Given the description of an element on the screen output the (x, y) to click on. 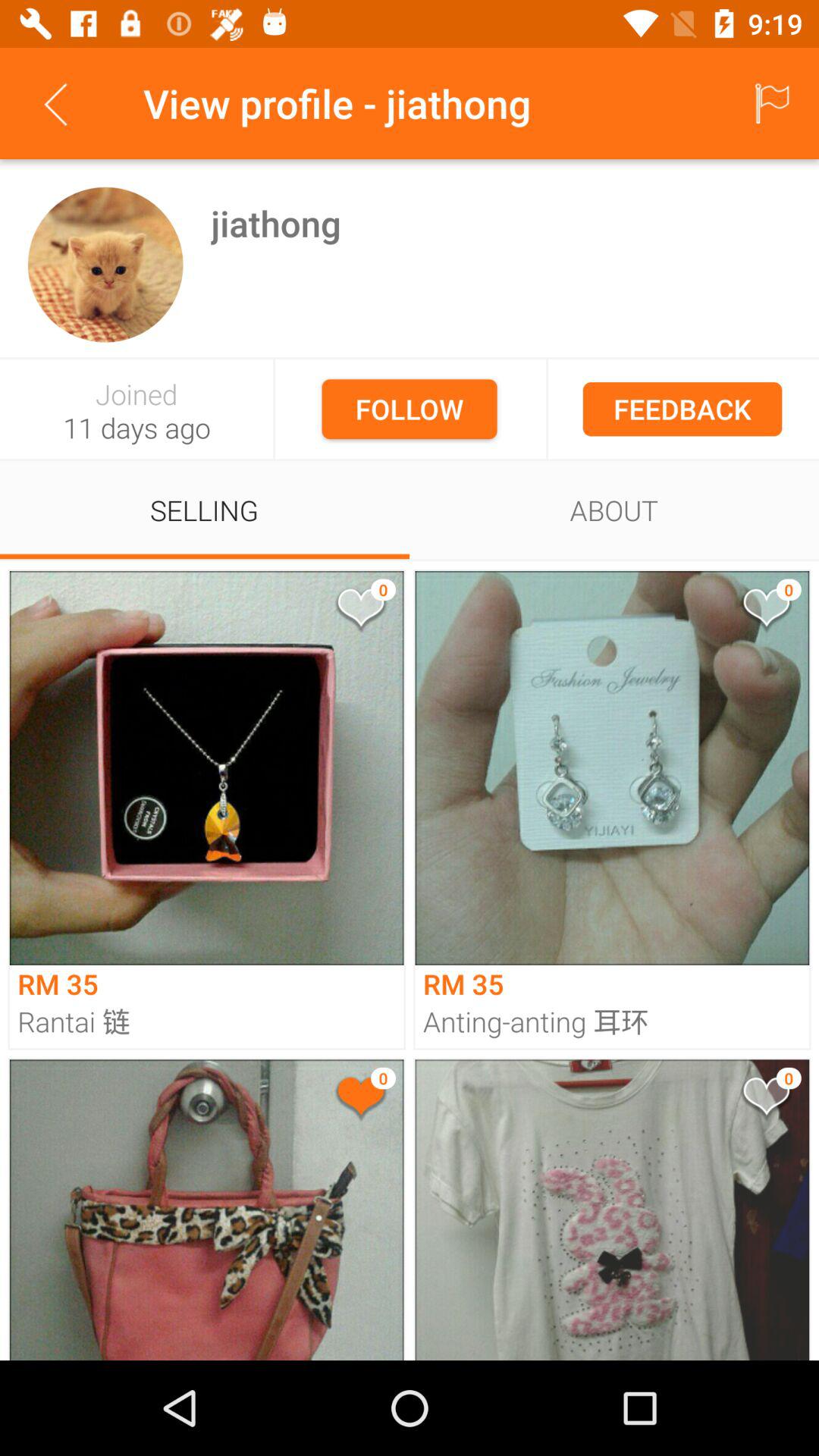
open icon to the left of the view profile - jiathong (55, 103)
